Given the description of an element on the screen output the (x, y) to click on. 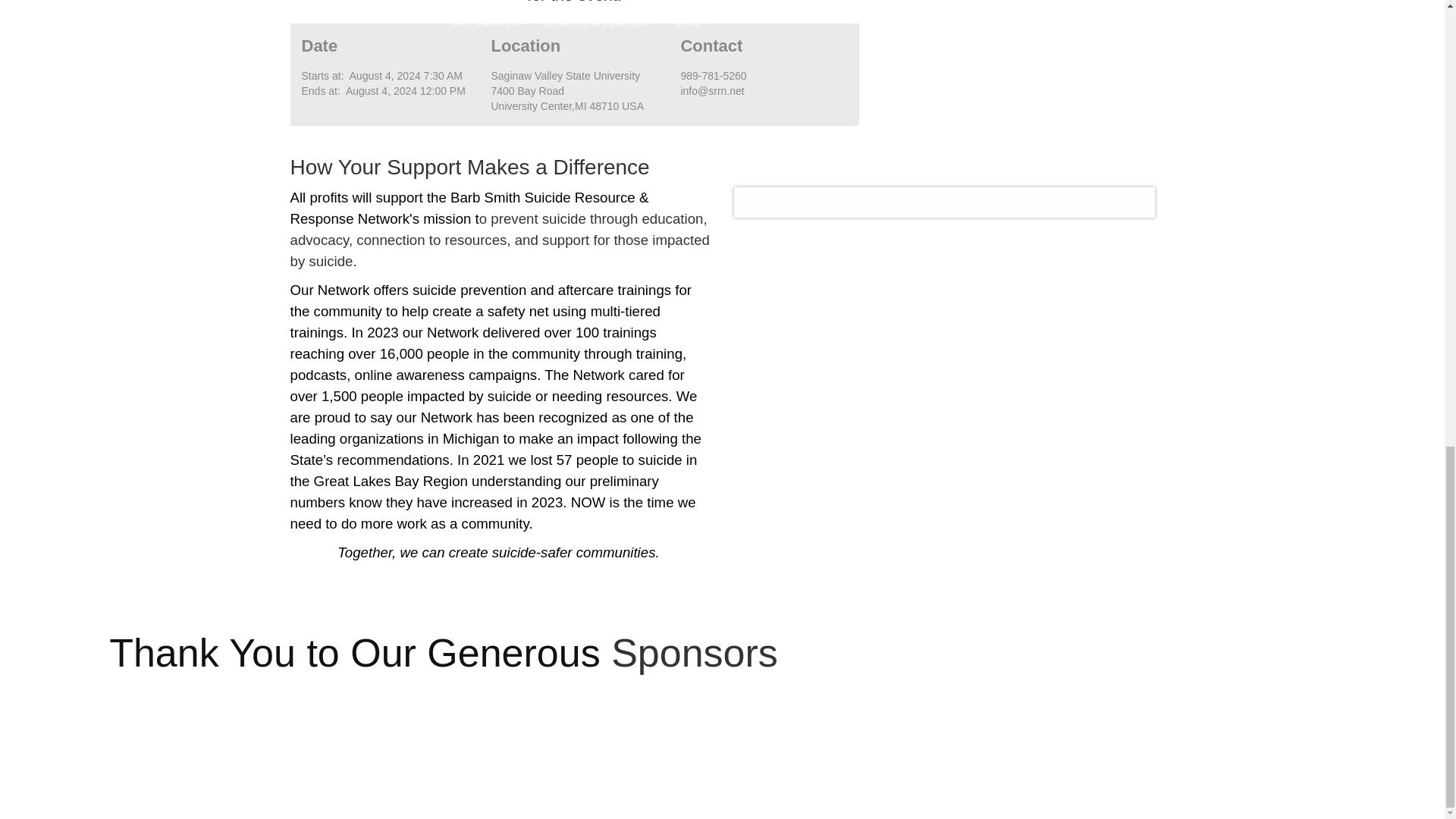
Privacy Policy (1054, 784)
Terms of Use (978, 784)
Have a Question or Need Help? (425, 746)
